Given the description of an element on the screen output the (x, y) to click on. 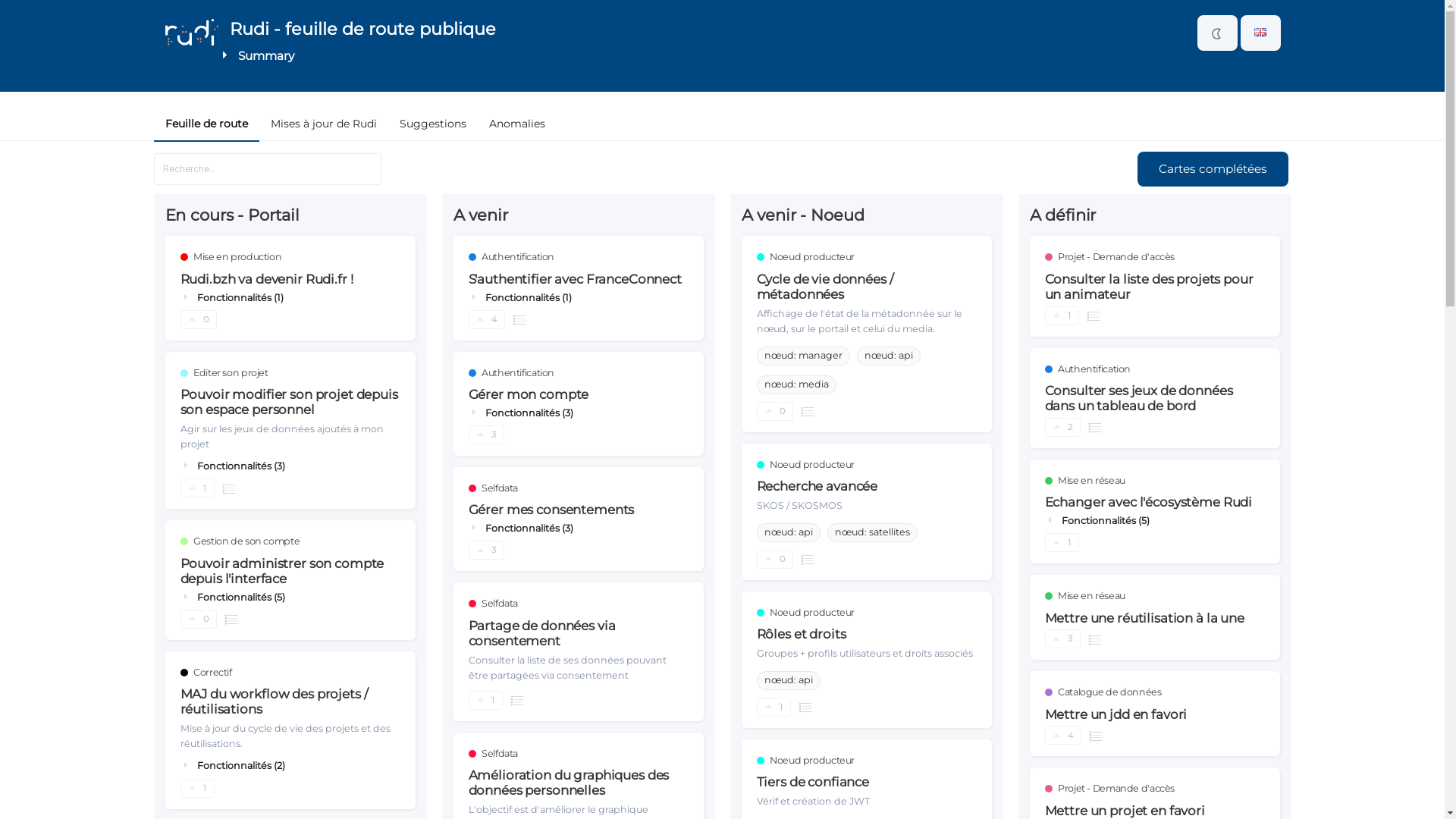
More details Element type: hover (519, 319)
More details Element type: hover (807, 411)
1 Element type: text (485, 699)
0 Element type: text (198, 319)
3 Element type: text (1062, 638)
1 Element type: text (197, 487)
More details Element type: hover (1095, 735)
0 Element type: text (198, 618)
More details Element type: hover (805, 707)
More details Element type: hover (807, 559)
More details Element type: hover (228, 487)
1 Element type: text (1061, 542)
1 Element type: text (773, 706)
3 Element type: text (486, 549)
2 Element type: text (1062, 426)
3 Element type: text (486, 434)
More details Element type: hover (1094, 427)
More details Element type: hover (231, 619)
1 Element type: text (197, 787)
4 Element type: text (486, 319)
More details Element type: hover (1094, 638)
0 Element type: text (774, 410)
1 Element type: text (1061, 315)
More details Element type: hover (1093, 315)
0 Element type: text (774, 558)
More details Element type: hover (517, 700)
4 Element type: text (1062, 734)
